Given the description of an element on the screen output the (x, y) to click on. 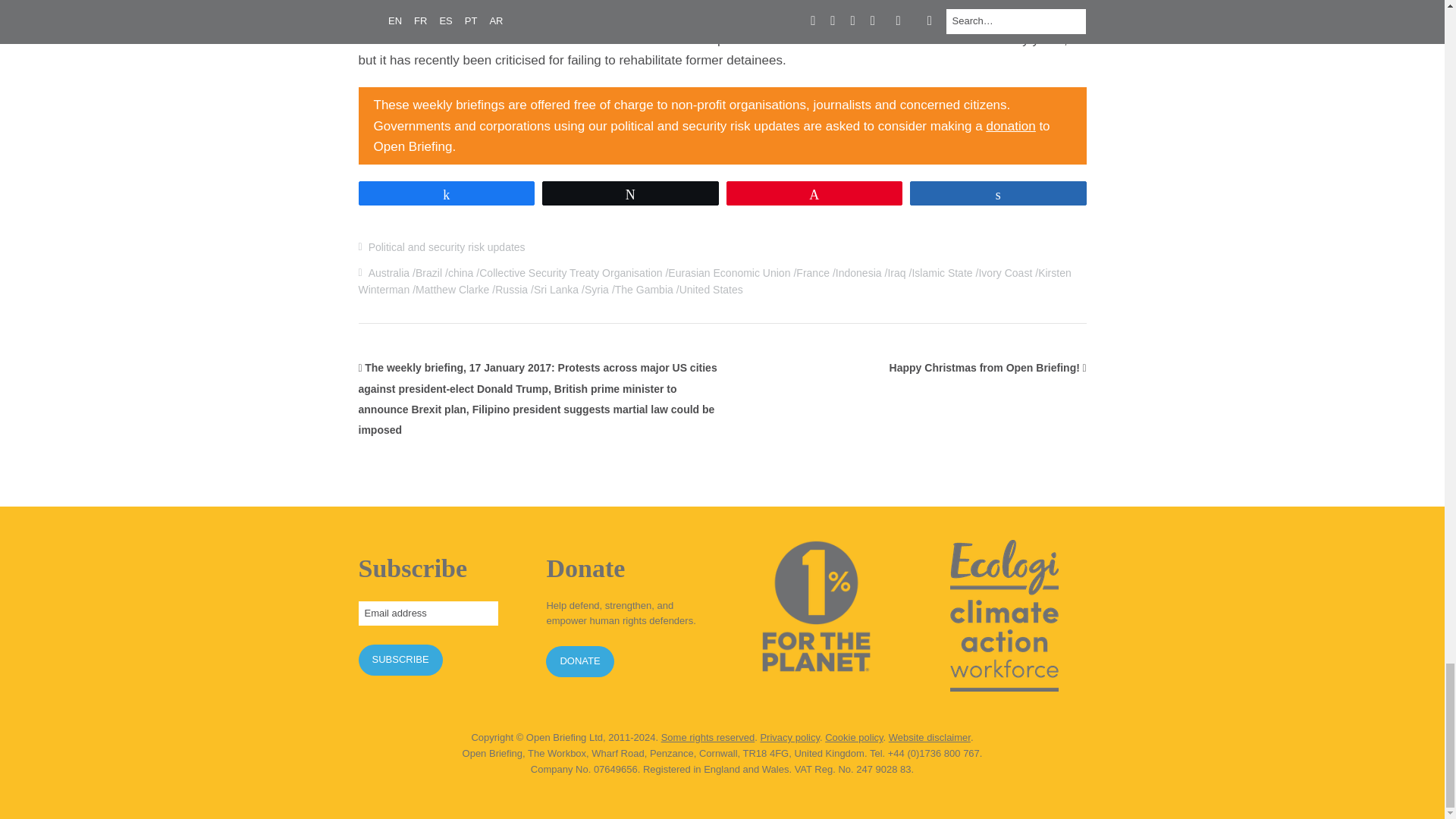
donation (1010, 125)
Donate (1010, 125)
Email address (427, 613)
Subscribe (400, 659)
